Given the description of an element on the screen output the (x, y) to click on. 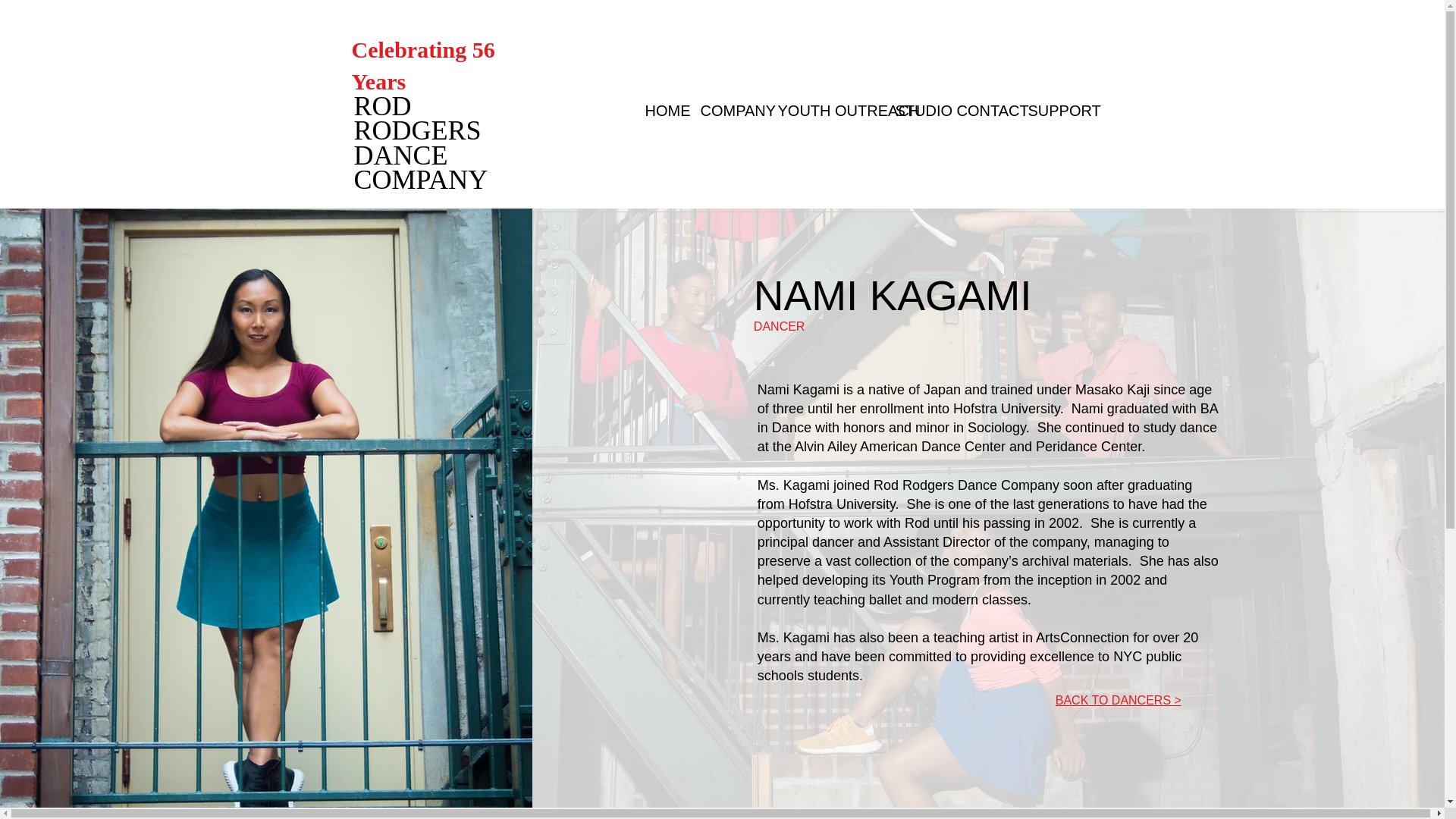
SUPPORT (1051, 110)
HOME (660, 110)
CONTACT (980, 110)
